Given the description of an element on the screen output the (x, y) to click on. 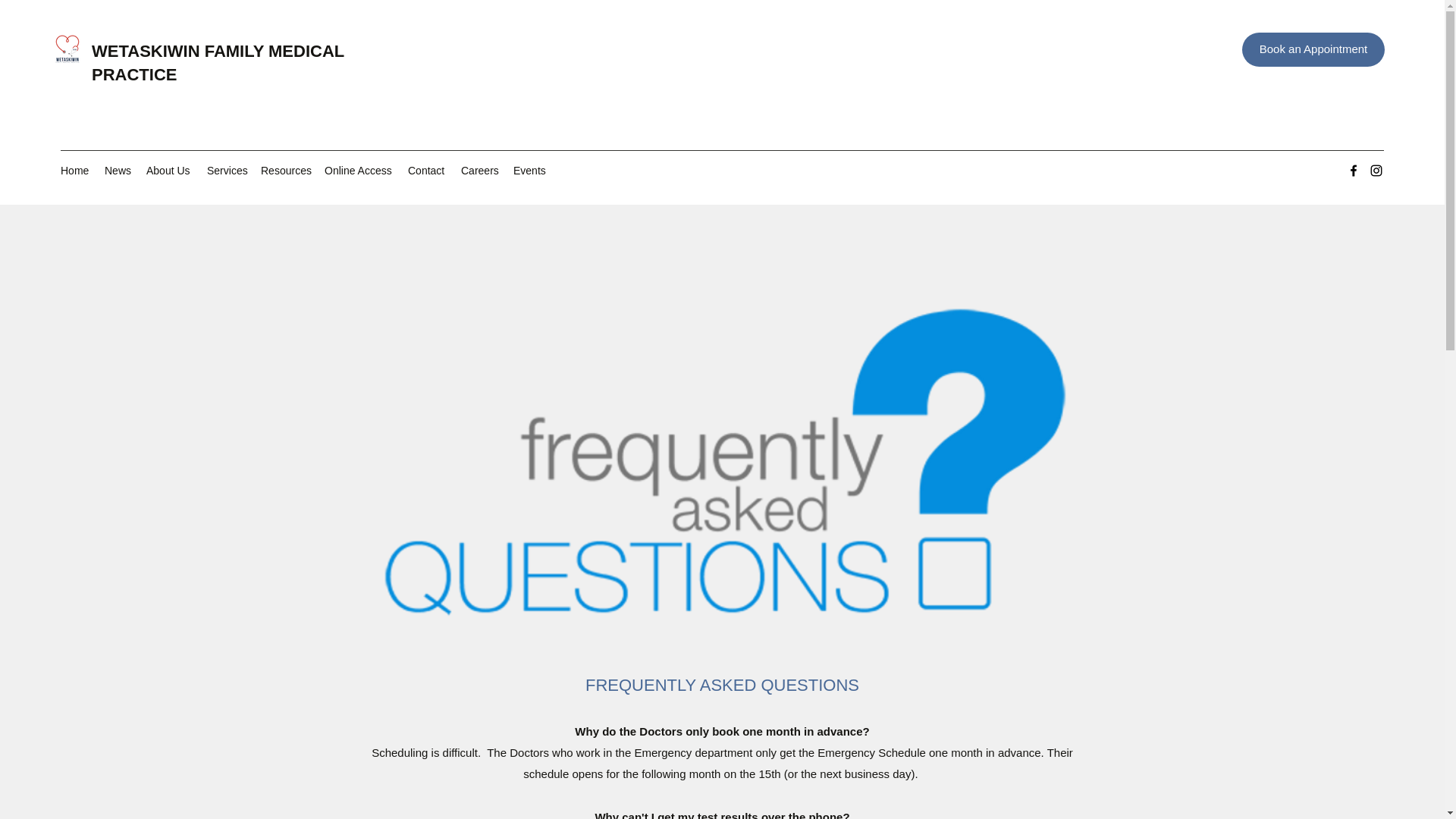
Contact (426, 169)
Careers (478, 169)
About Us (168, 169)
Events (528, 169)
Services (226, 169)
Book an Appointment (1312, 49)
Home (74, 169)
Resources (285, 169)
News (117, 169)
Online Access (358, 169)
WETASKIWIN FAMILY MEDICAL PRACTICE (217, 62)
